Given the description of an element on the screen output the (x, y) to click on. 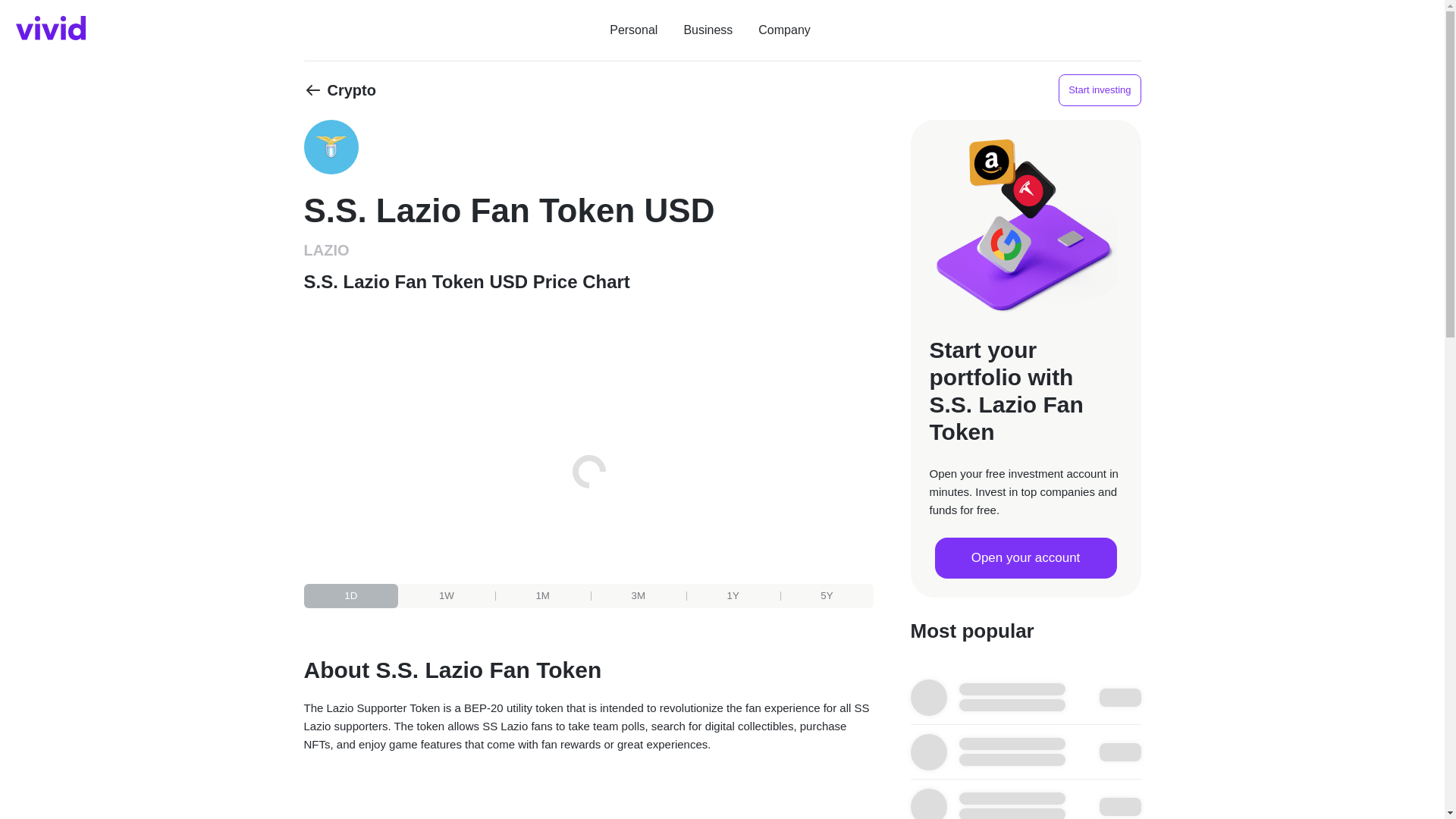
3M (638, 595)
Company (783, 30)
Business (707, 30)
Crypto (338, 90)
1M (543, 595)
Start investing (1099, 90)
1W (446, 595)
1D (351, 595)
Personal (633, 30)
